Given the description of an element on the screen output the (x, y) to click on. 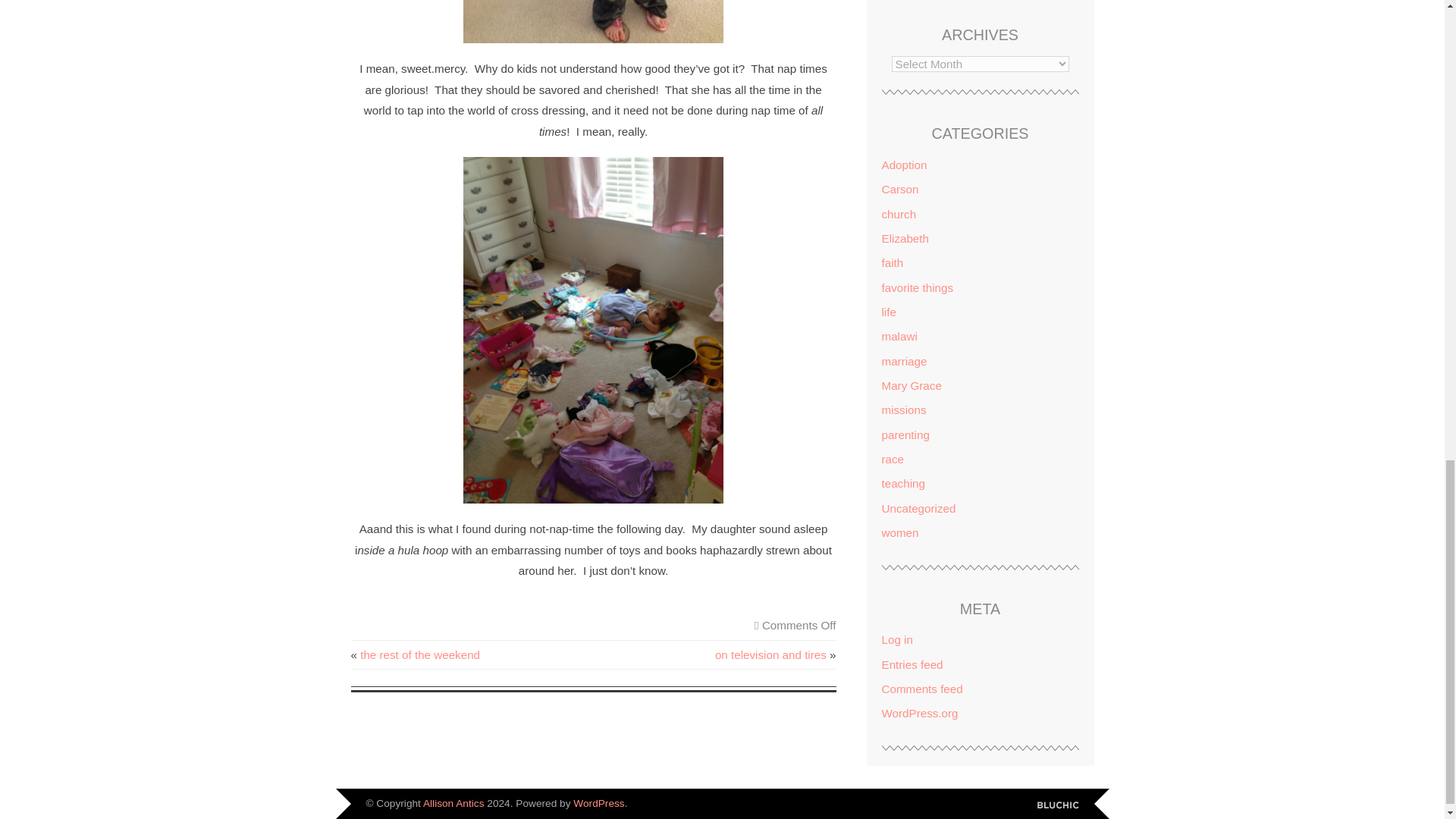
WordPress (598, 803)
teaching (902, 482)
Log in (896, 639)
favorite things (916, 287)
Mary Grace (910, 385)
church (897, 214)
missions (903, 409)
Allison Antics (453, 803)
Elizabeth (904, 237)
the rest of the weekend (419, 654)
